Given the description of an element on the screen output the (x, y) to click on. 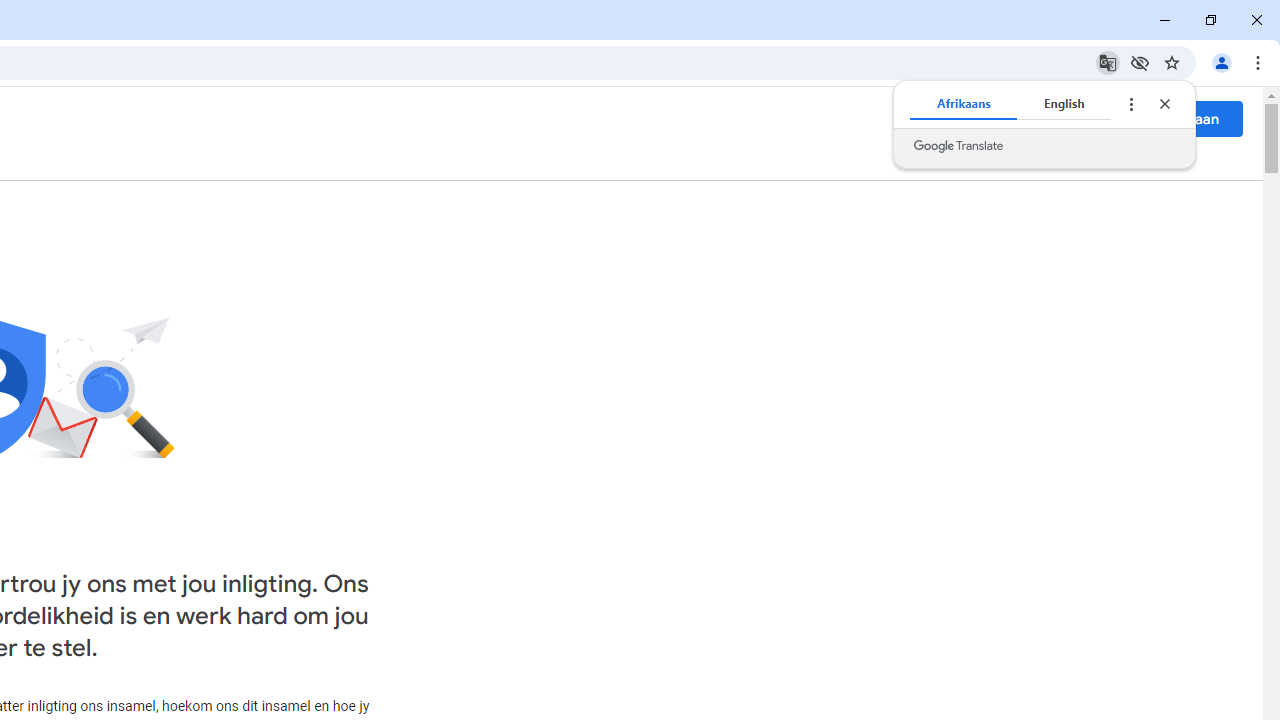
Translate options (1130, 103)
English (1064, 103)
Meld aan (1188, 118)
Afrikaans (963, 103)
Google-programme (1101, 118)
Translate this page (1107, 62)
